Given the description of an element on the screen output the (x, y) to click on. 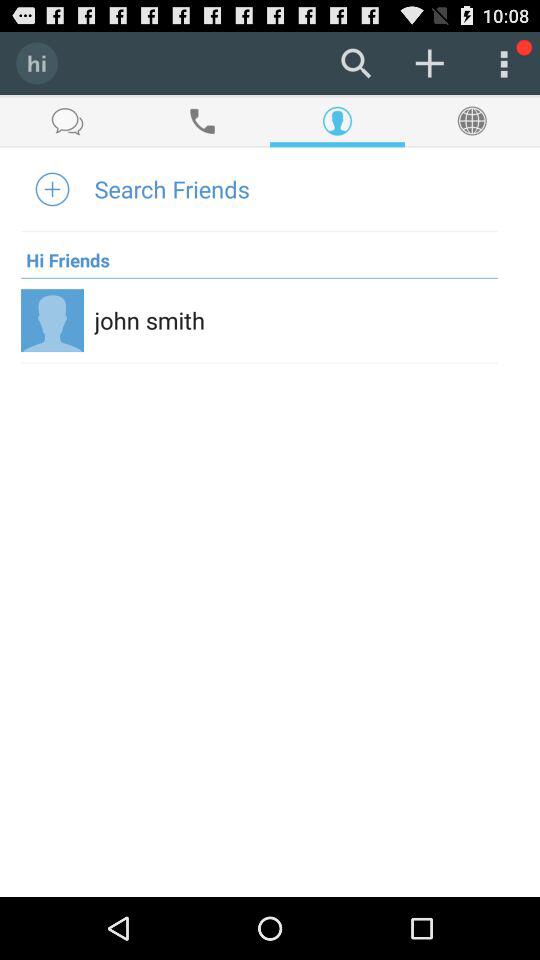
scroll to the search friends item (171, 188)
